Given the description of an element on the screen output the (x, y) to click on. 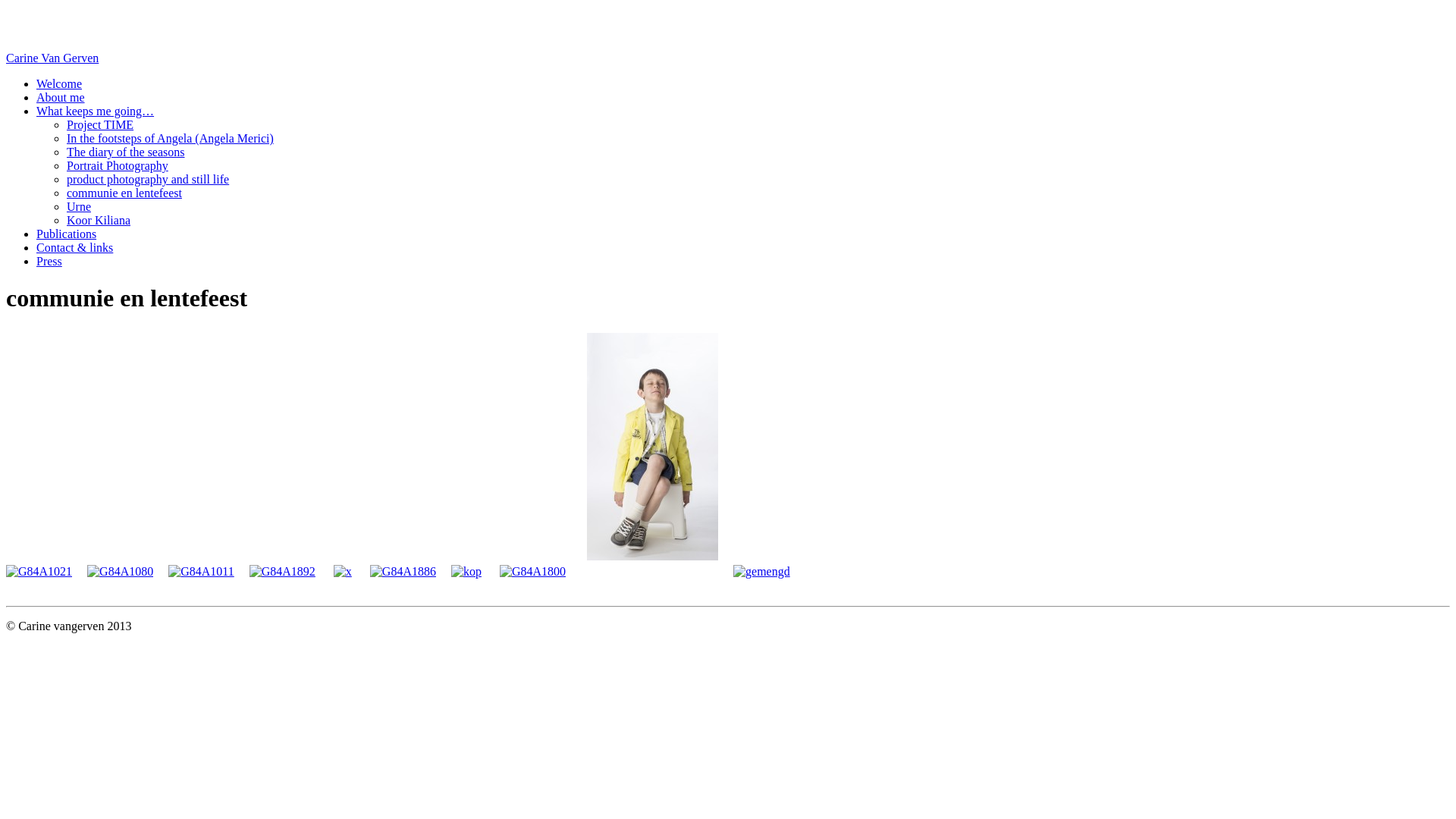
About me Element type: text (60, 97)
Carine Van Gerven Element type: text (52, 57)
Publications Element type: text (66, 233)
product photography and still life Element type: text (147, 178)
Portrait Photography Element type: text (117, 165)
Urne Element type: text (78, 206)
Welcome Element type: text (58, 83)
Press Element type: text (49, 260)
Contact & links Element type: text (74, 247)
Project TIME Element type: text (99, 124)
Koor Kiliana Element type: text (98, 219)
In the footsteps of Angela (Angela Merici) Element type: text (169, 137)
The diary of the seasons Element type: text (125, 151)
communie en lentefeest Element type: text (124, 192)
